Given the description of an element on the screen output the (x, y) to click on. 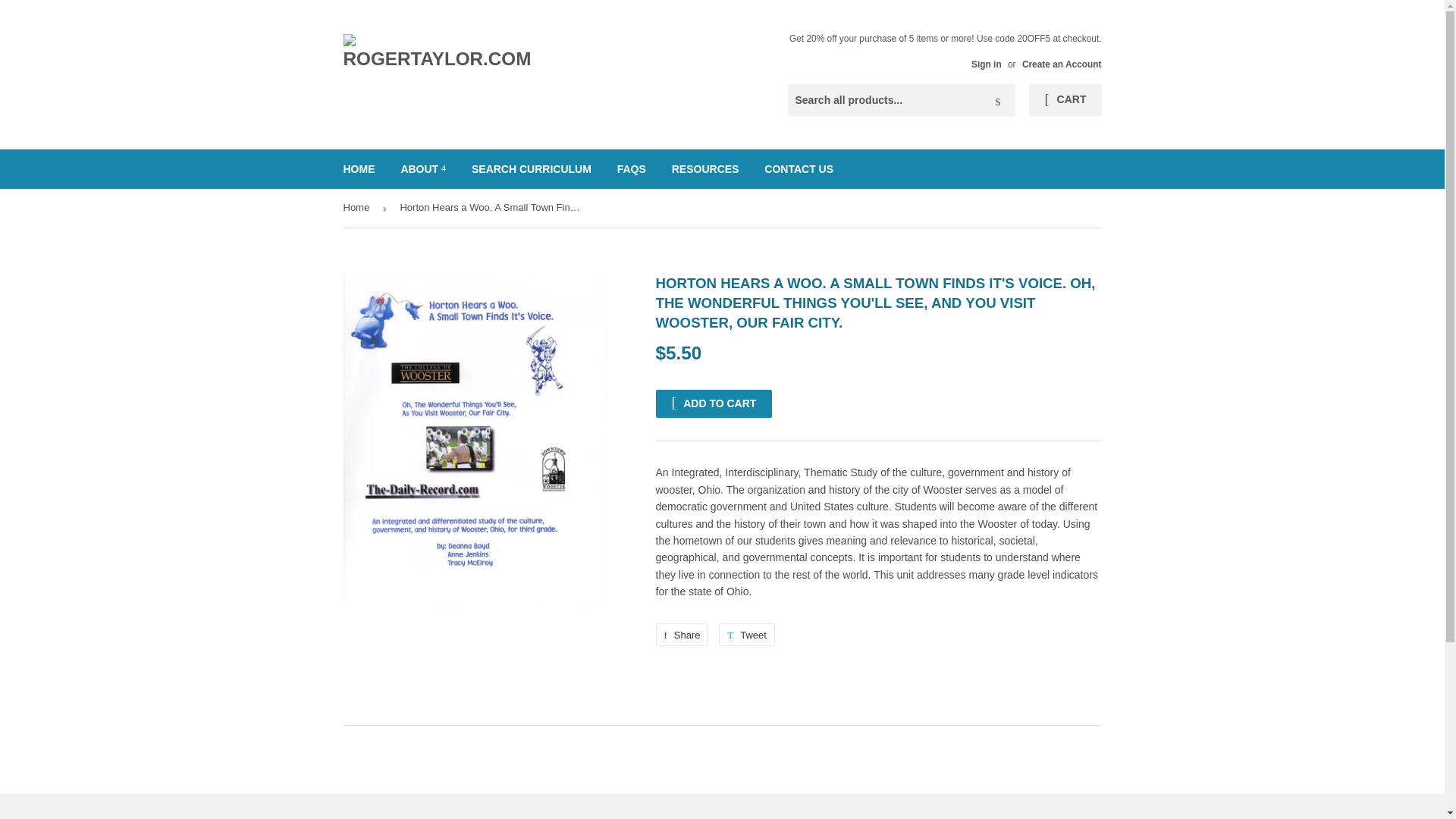
Sign in (986, 63)
CONTACT US (798, 169)
Tweet on Twitter (746, 634)
Search (997, 101)
FAQS (631, 169)
ADD TO CART (713, 403)
Create an Account (681, 634)
Share on Facebook (1062, 63)
